Given the description of an element on the screen output the (x, y) to click on. 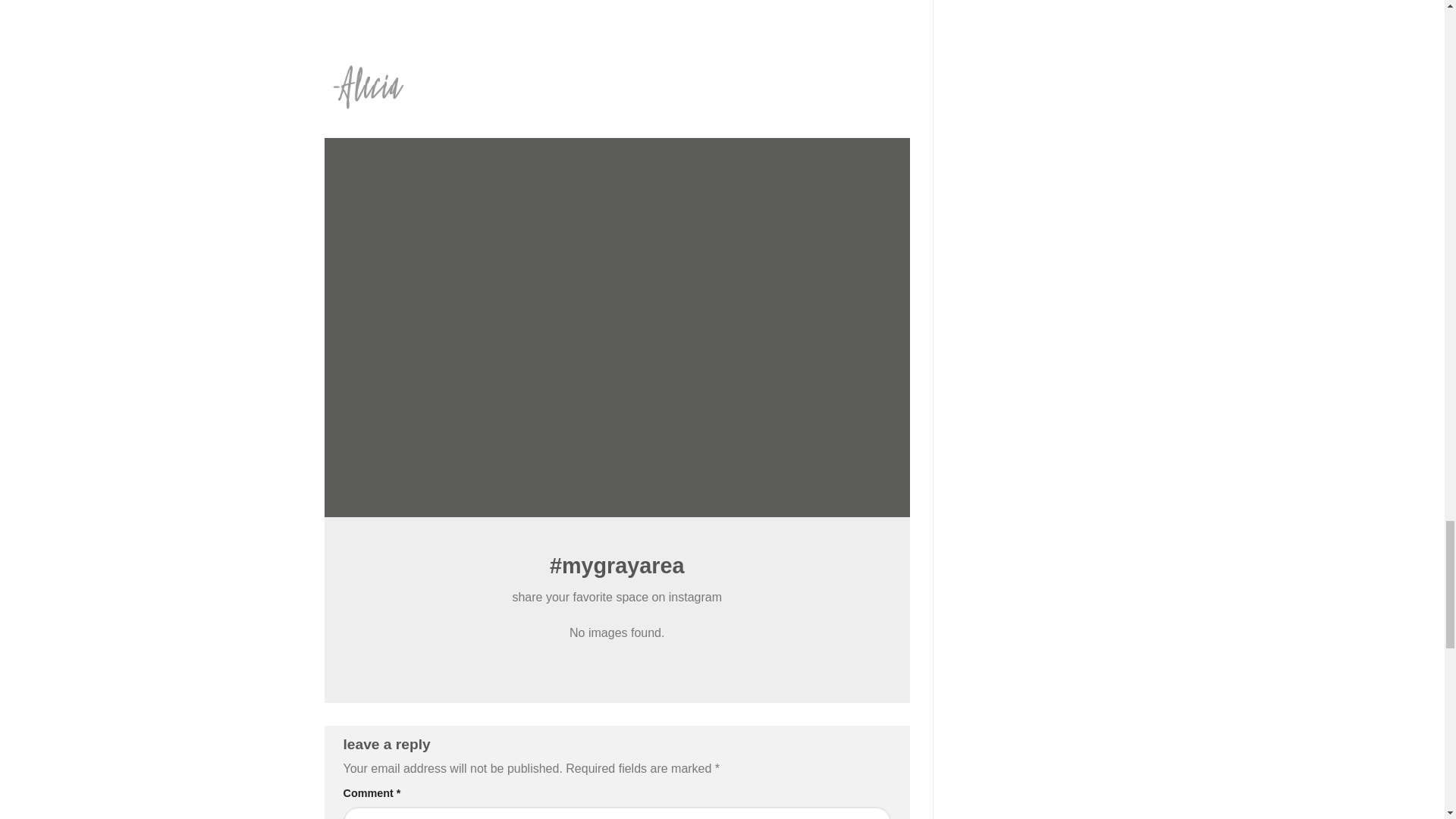
Sign Up (590, 367)
